Given the description of an element on the screen output the (x, y) to click on. 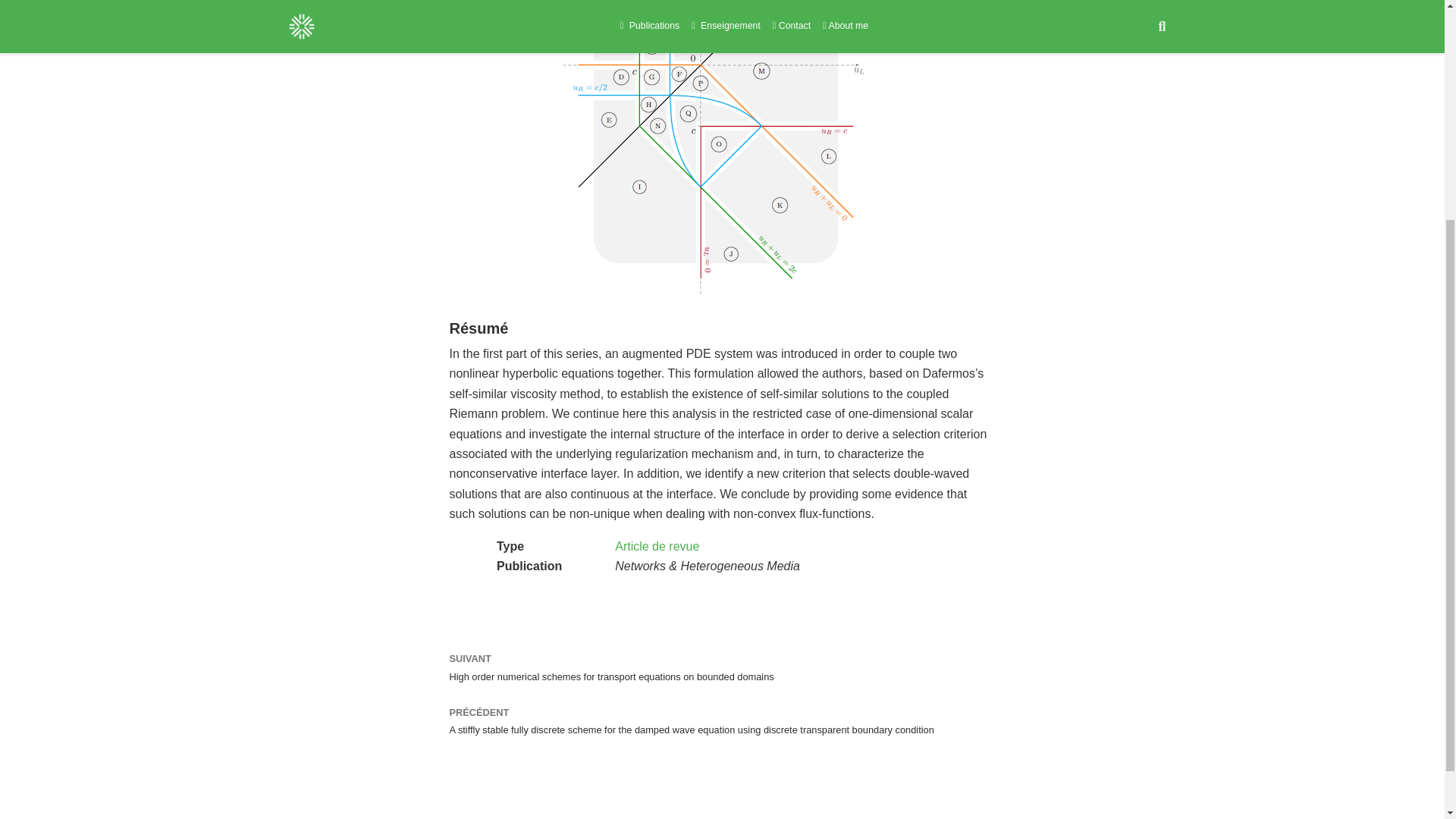
Article de revue (656, 545)
